Given the description of an element on the screen output the (x, y) to click on. 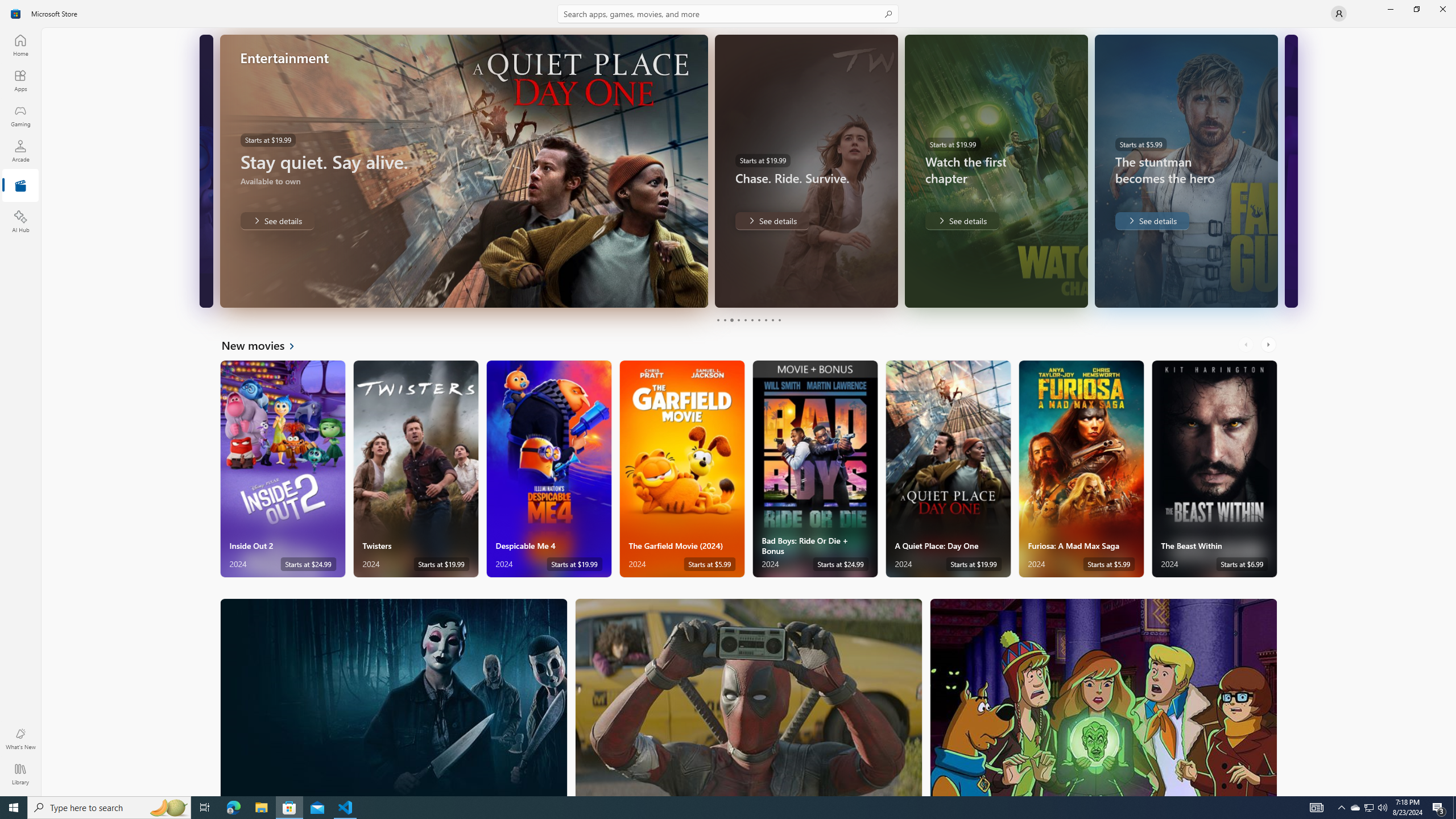
Page 3 (731, 319)
